Given the description of an element on the screen output the (x, y) to click on. 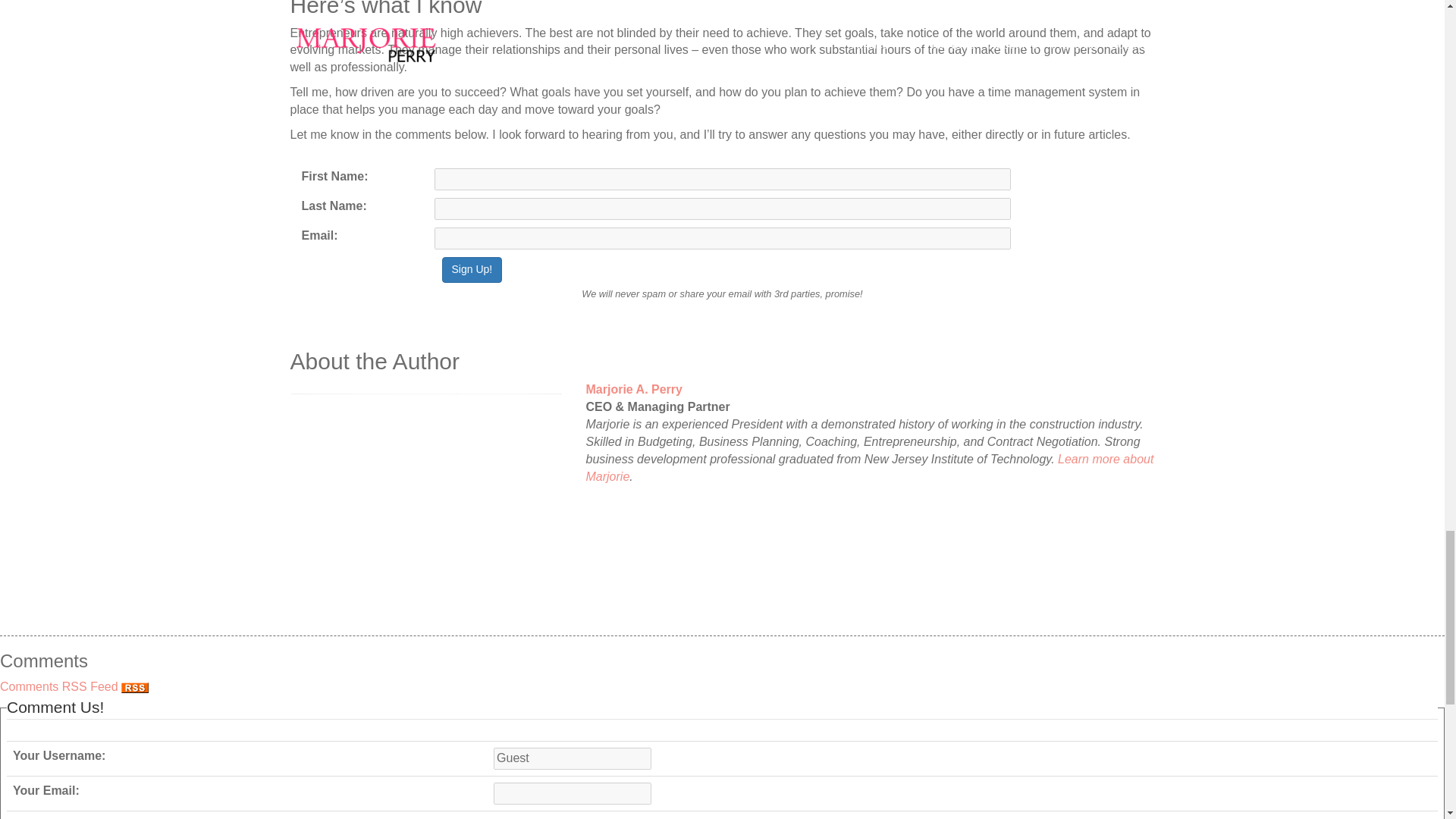
Learn more about Marjorie (869, 467)
Subscribe to our Comments RSS Feed (134, 687)
The text to enter in the texbox below is: ONsTtb (523, 818)
Guest (571, 758)
Sign Up! (471, 269)
Marjorie A. Perry (869, 389)
Comments RSS Feed (74, 686)
